Given the description of an element on the screen output the (x, y) to click on. 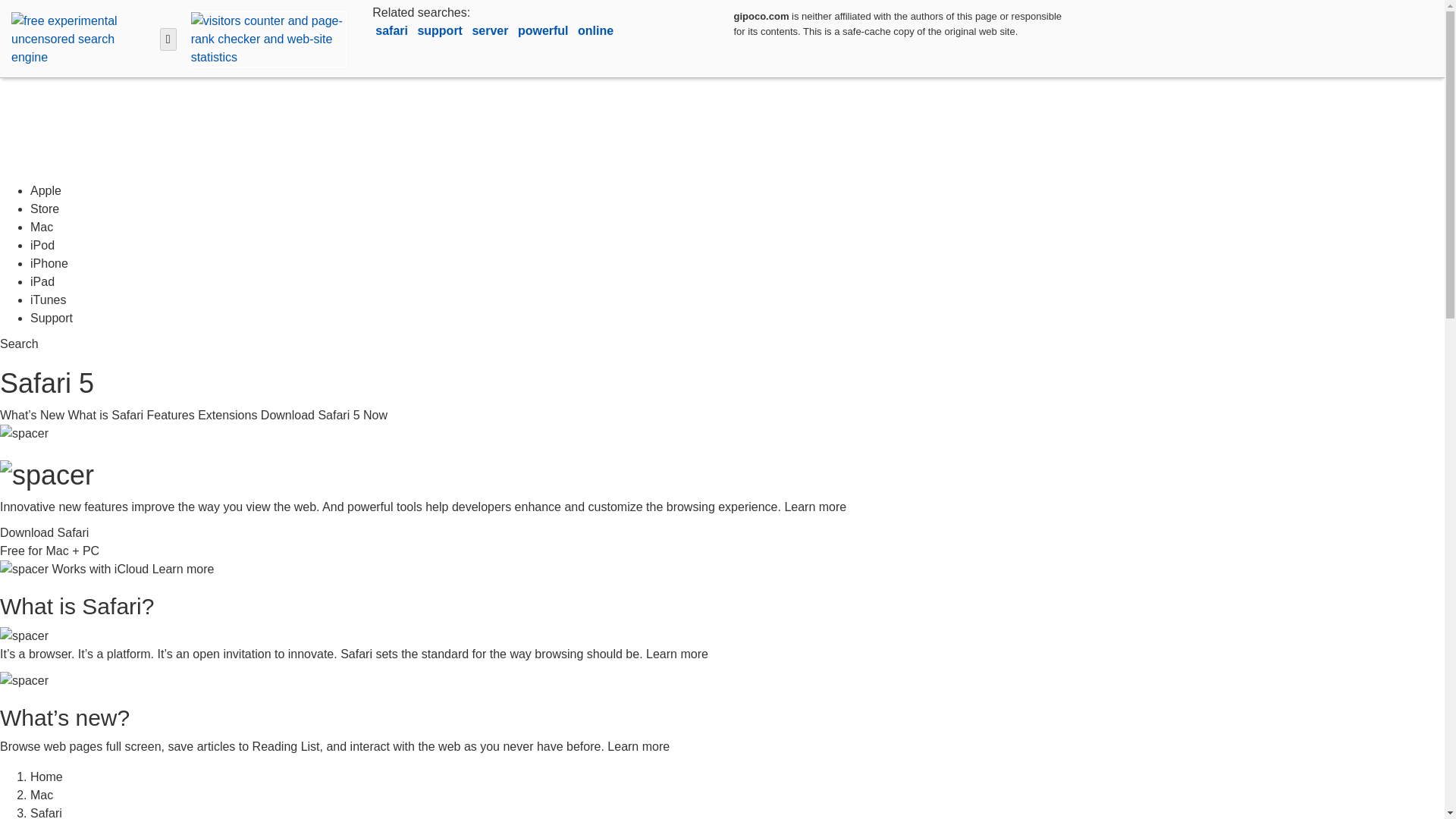
online (595, 30)
support (440, 30)
view page-rank and visitors counter and free website stats (265, 38)
free experimental uncensored search engine - home page (79, 38)
safari (392, 30)
support (440, 30)
server (491, 30)
powerful (545, 30)
online (595, 30)
server (491, 30)
